Given the description of an element on the screen output the (x, y) to click on. 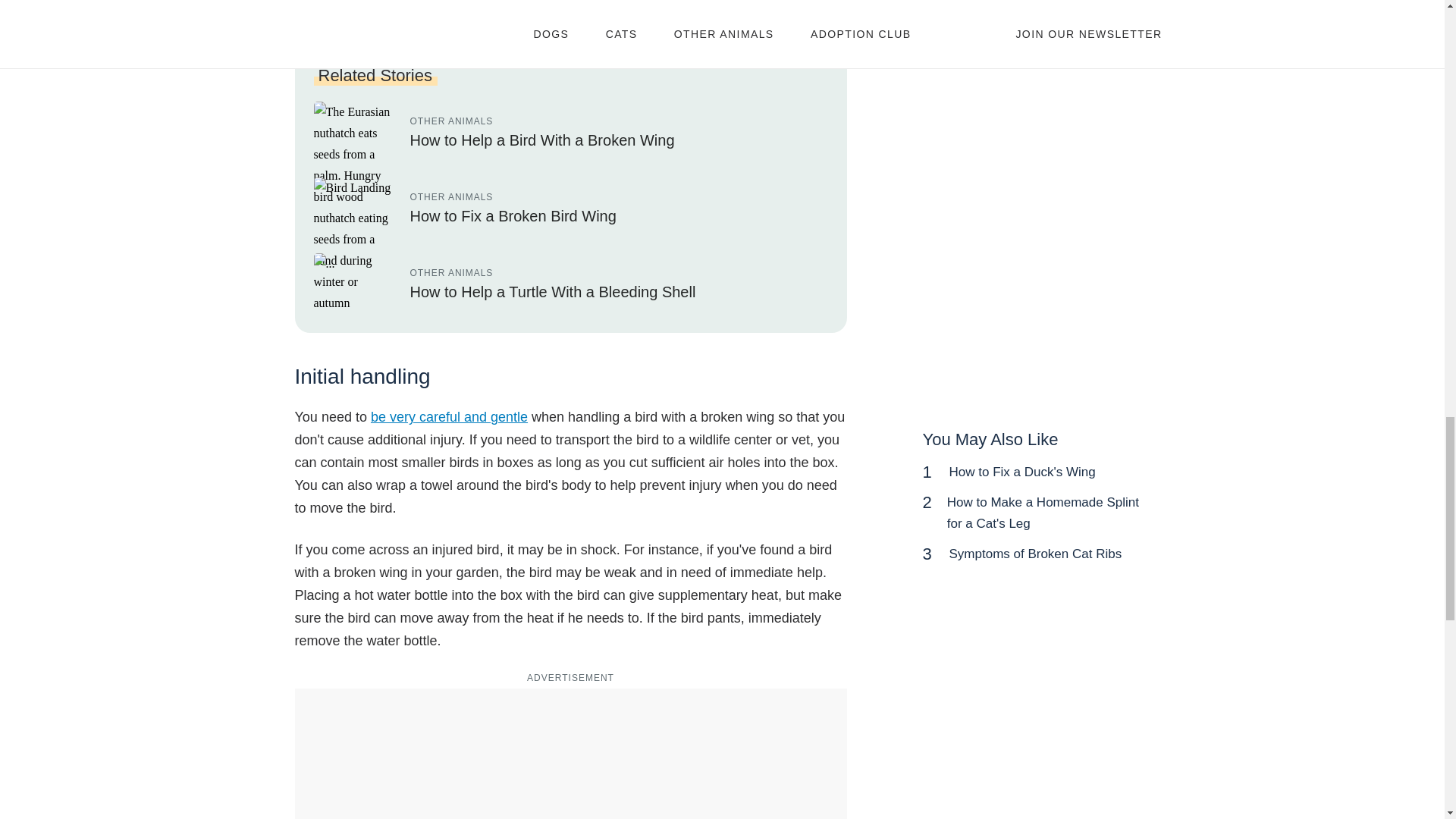
Symptoms of Broken Cat Ribs (1035, 554)
How to Fix a Duck's Wing (1022, 472)
How to Make a Homemade Splint for a Cat's Leg (1042, 512)
